Given the description of an element on the screen output the (x, y) to click on. 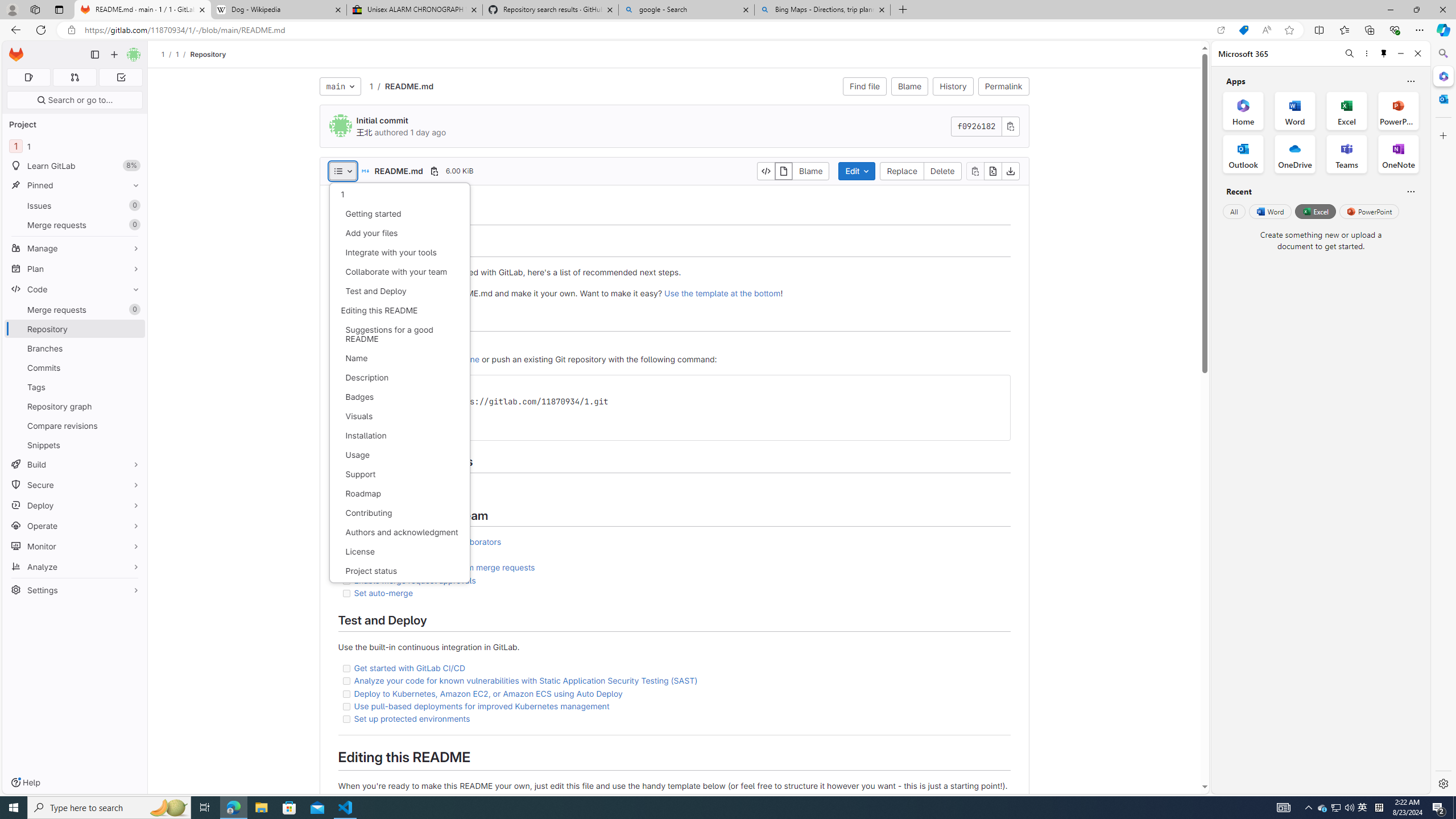
Repository (207, 53)
Integrate with your tools (399, 252)
Project status (399, 570)
Learn GitLab 8% (74, 165)
Compare revisions (74, 425)
Usage (399, 454)
Create new... (113, 54)
Contributing (399, 512)
Suggestions for a good README (399, 334)
